Given the description of an element on the screen output the (x, y) to click on. 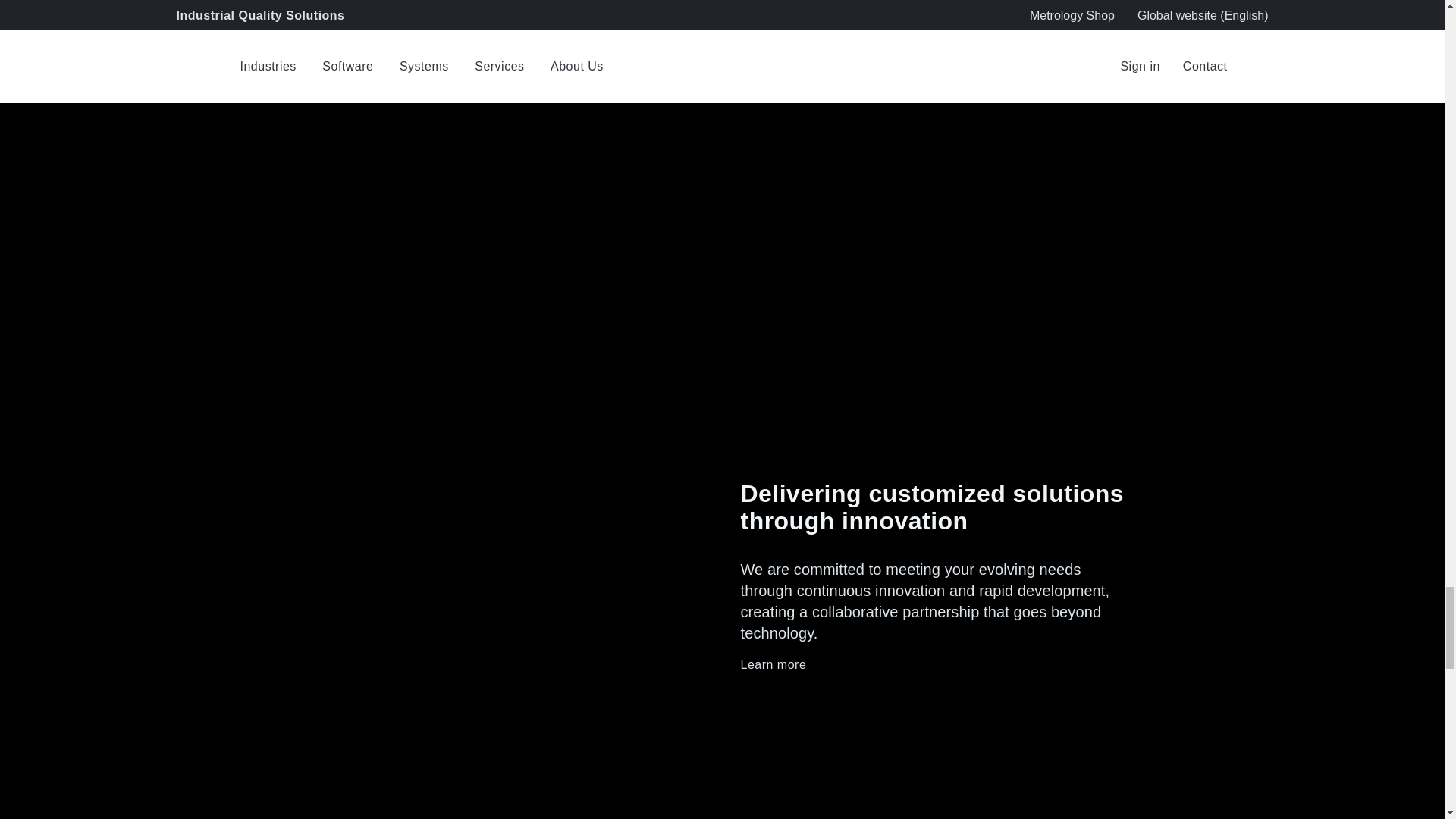
Learn more (935, 665)
Delivering customized solutions through innovation (935, 506)
